Given the description of an element on the screen output the (x, y) to click on. 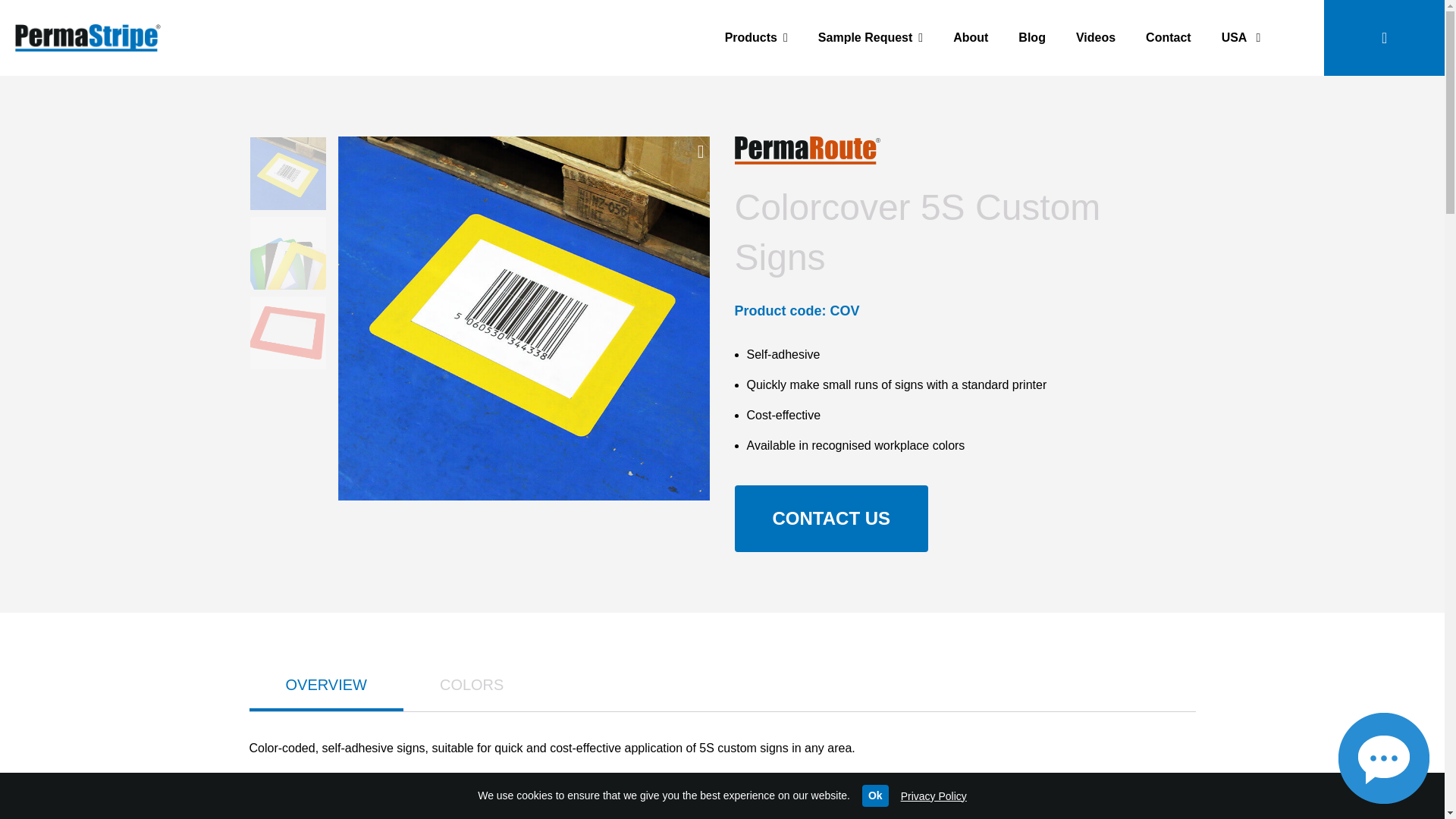
Videos (1096, 37)
About (970, 37)
Products (756, 37)
Blog (1032, 37)
Live chat online (1383, 757)
Contact (1169, 37)
Sample Request (870, 37)
USA (1241, 37)
